Given the description of an element on the screen output the (x, y) to click on. 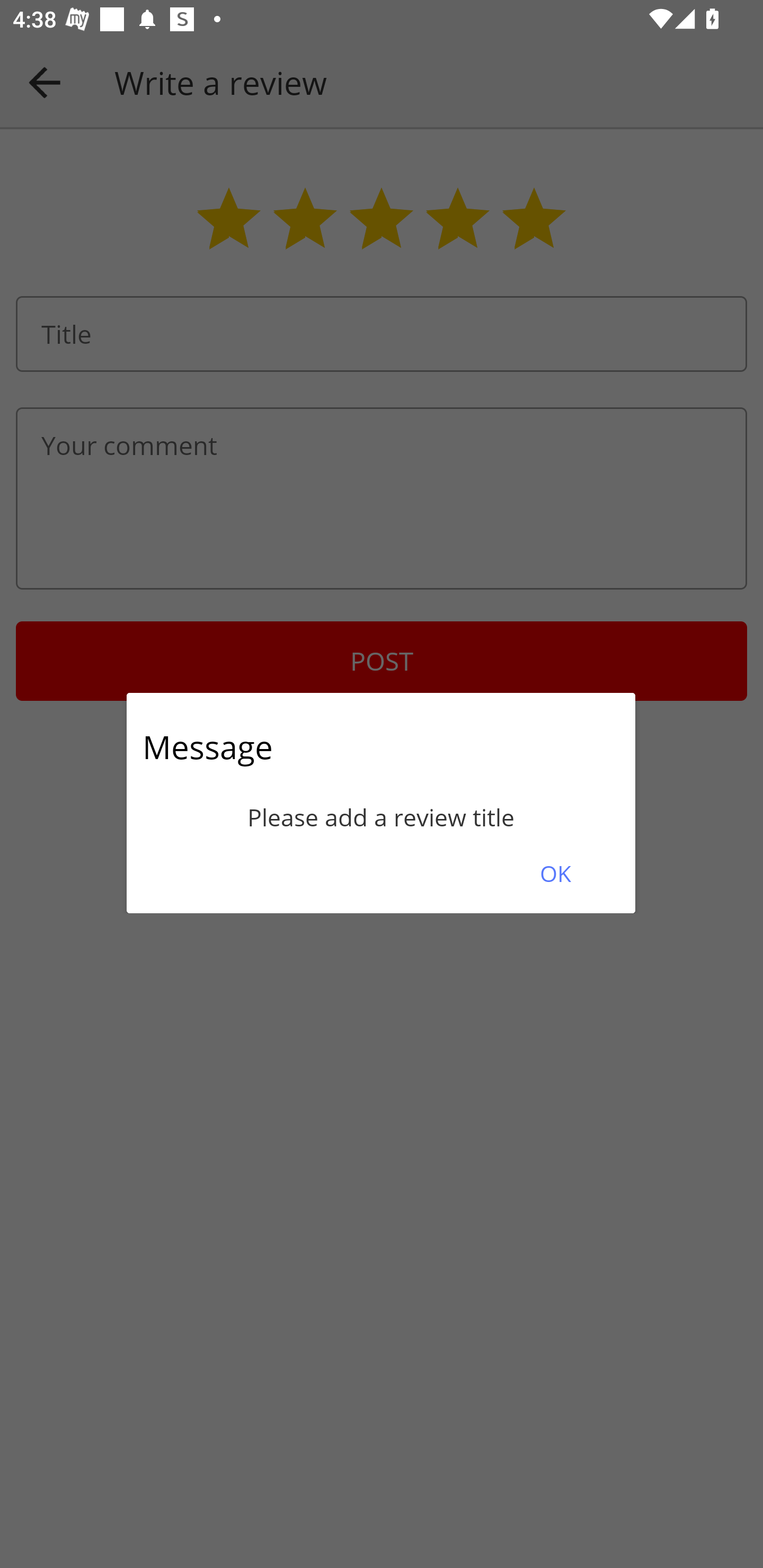
OK (555, 873)
